Given the description of an element on the screen output the (x, y) to click on. 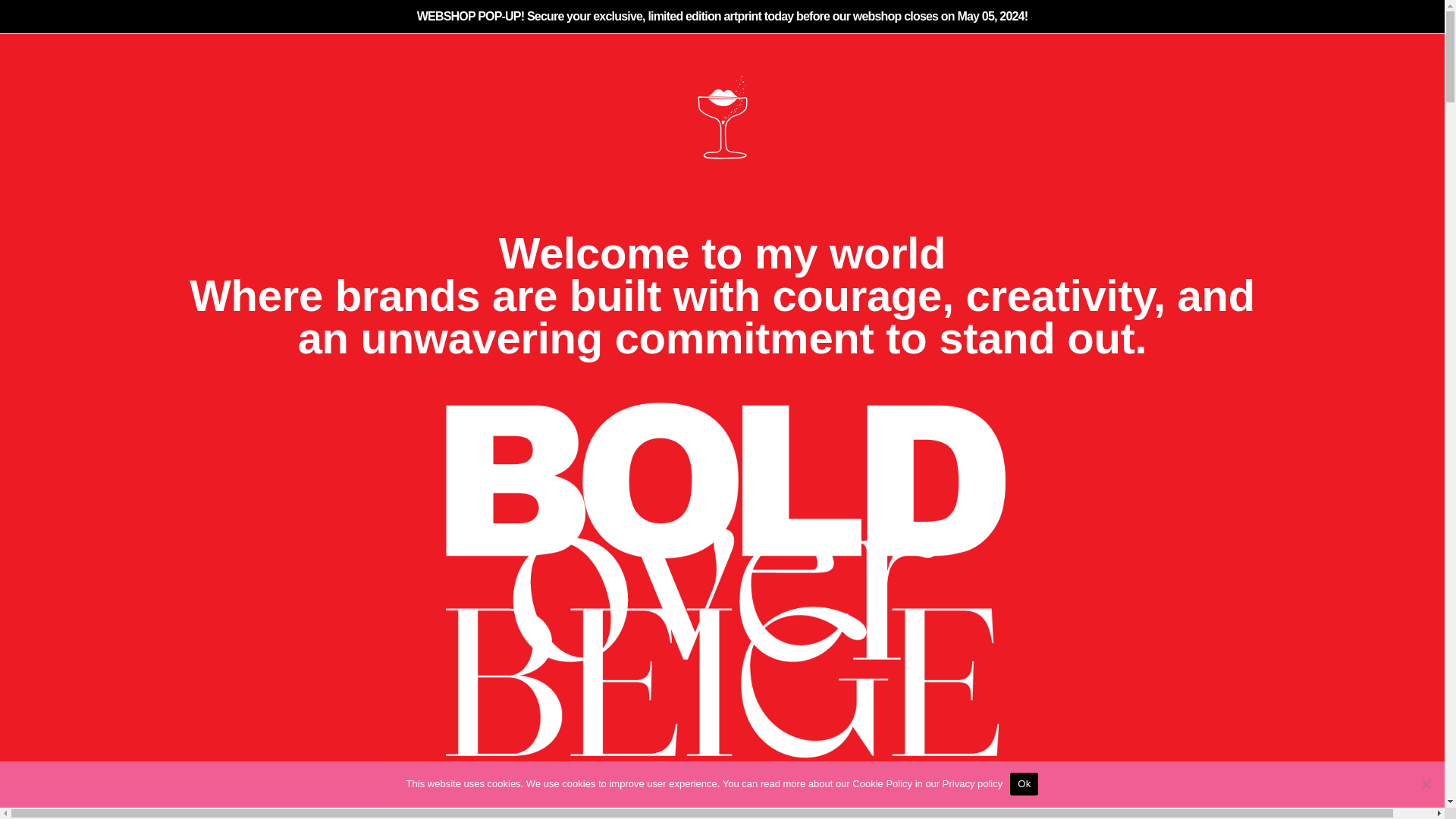
No (1425, 783)
Ok (1024, 783)
